Given the description of an element on the screen output the (x, y) to click on. 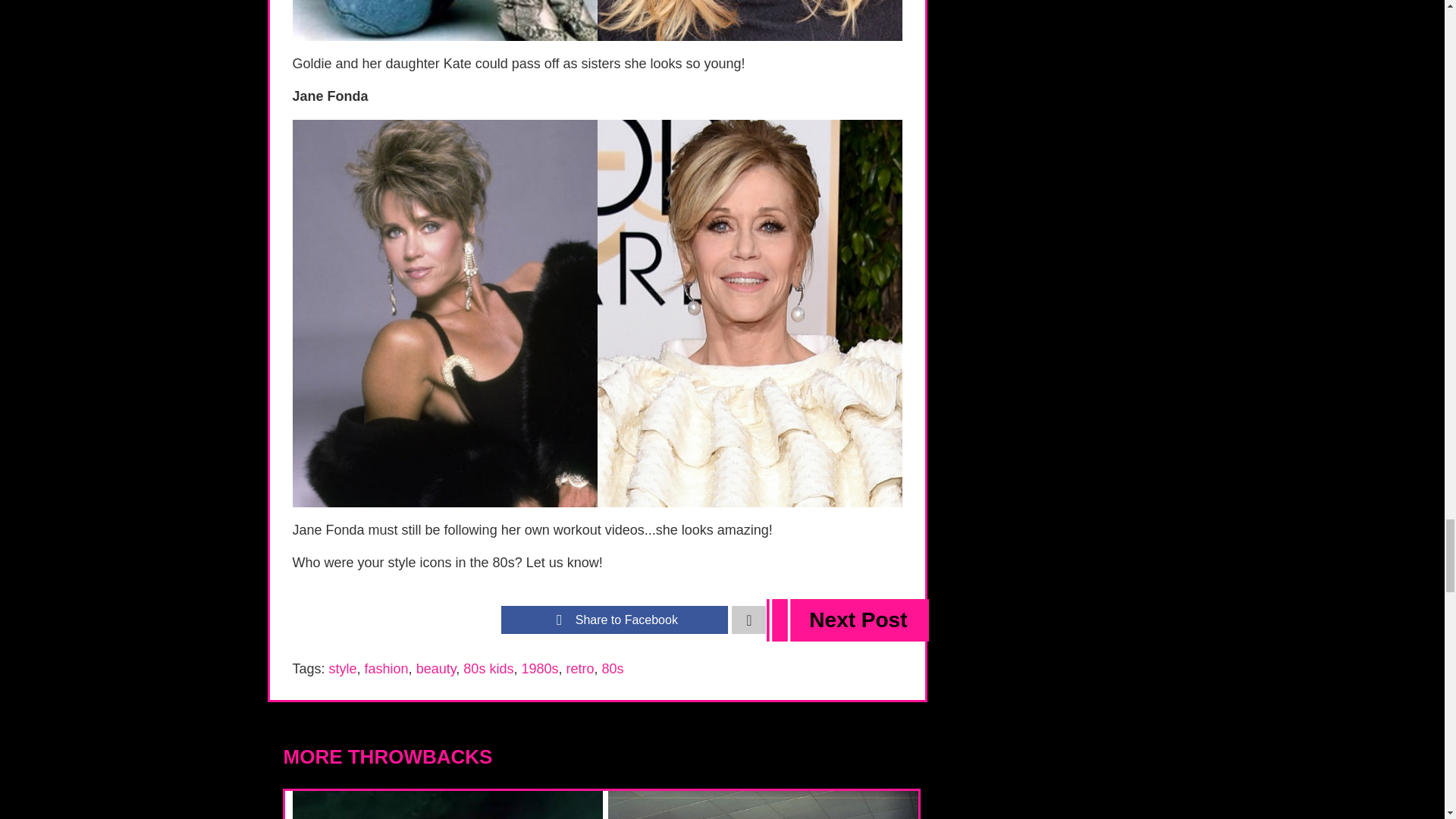
retro (580, 668)
1980s (539, 668)
80s (613, 668)
Next Post (847, 619)
fashion (387, 668)
facebook (614, 619)
beauty (436, 668)
Toggle navigation (748, 619)
80s kids (488, 668)
style (342, 668)
